Given the description of an element on the screen output the (x, y) to click on. 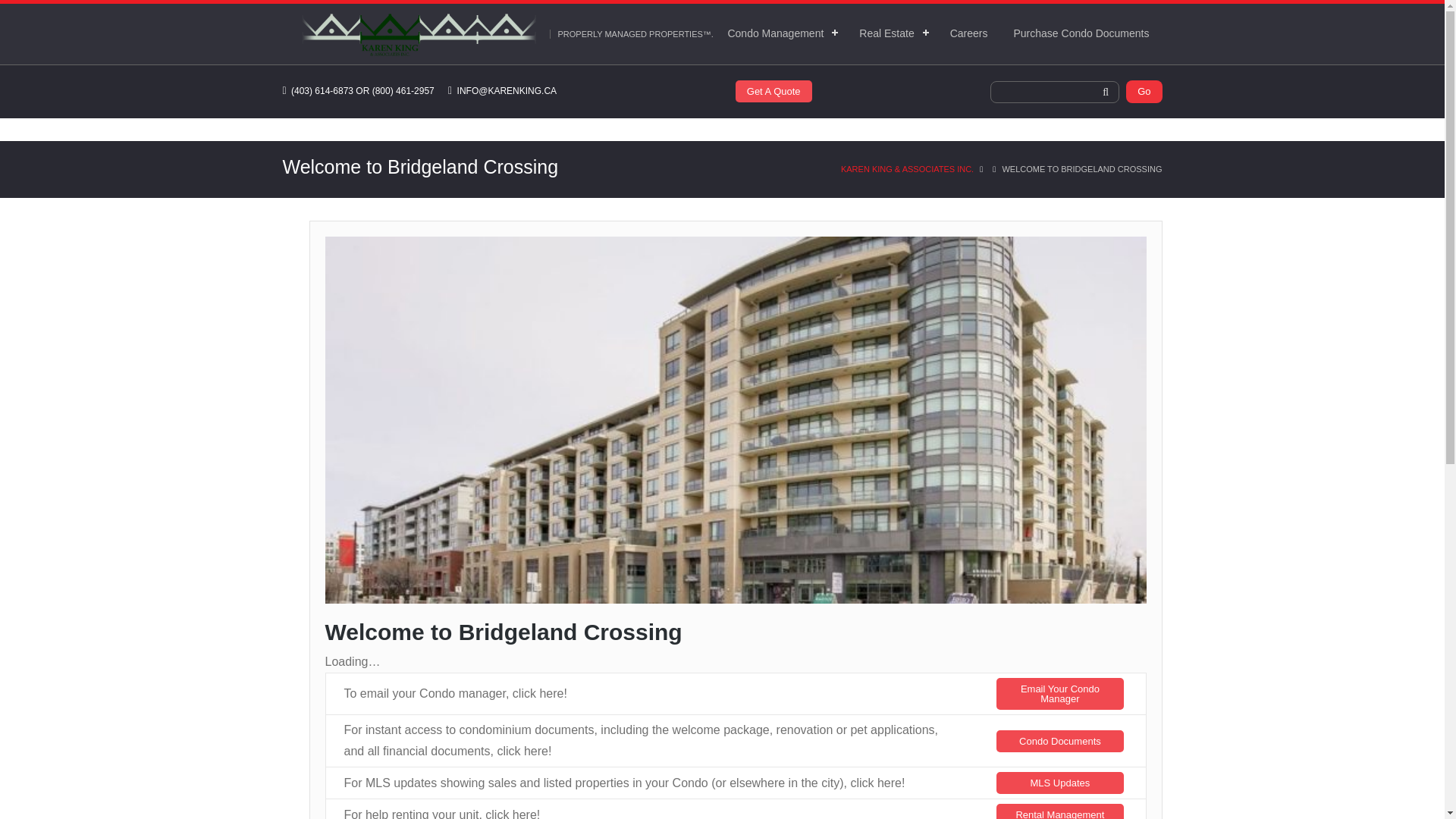
Go (1143, 91)
Get A Quote (773, 91)
Email Your Condo Manager (1058, 694)
Rental Management (1058, 811)
MLS Updates (1058, 782)
Go (1143, 91)
Go (1143, 91)
Purchase Condo Documents (1081, 33)
Condo Management (779, 33)
Condo Documents (1058, 741)
Real Estate (890, 33)
Careers (969, 33)
